Given the description of an element on the screen output the (x, y) to click on. 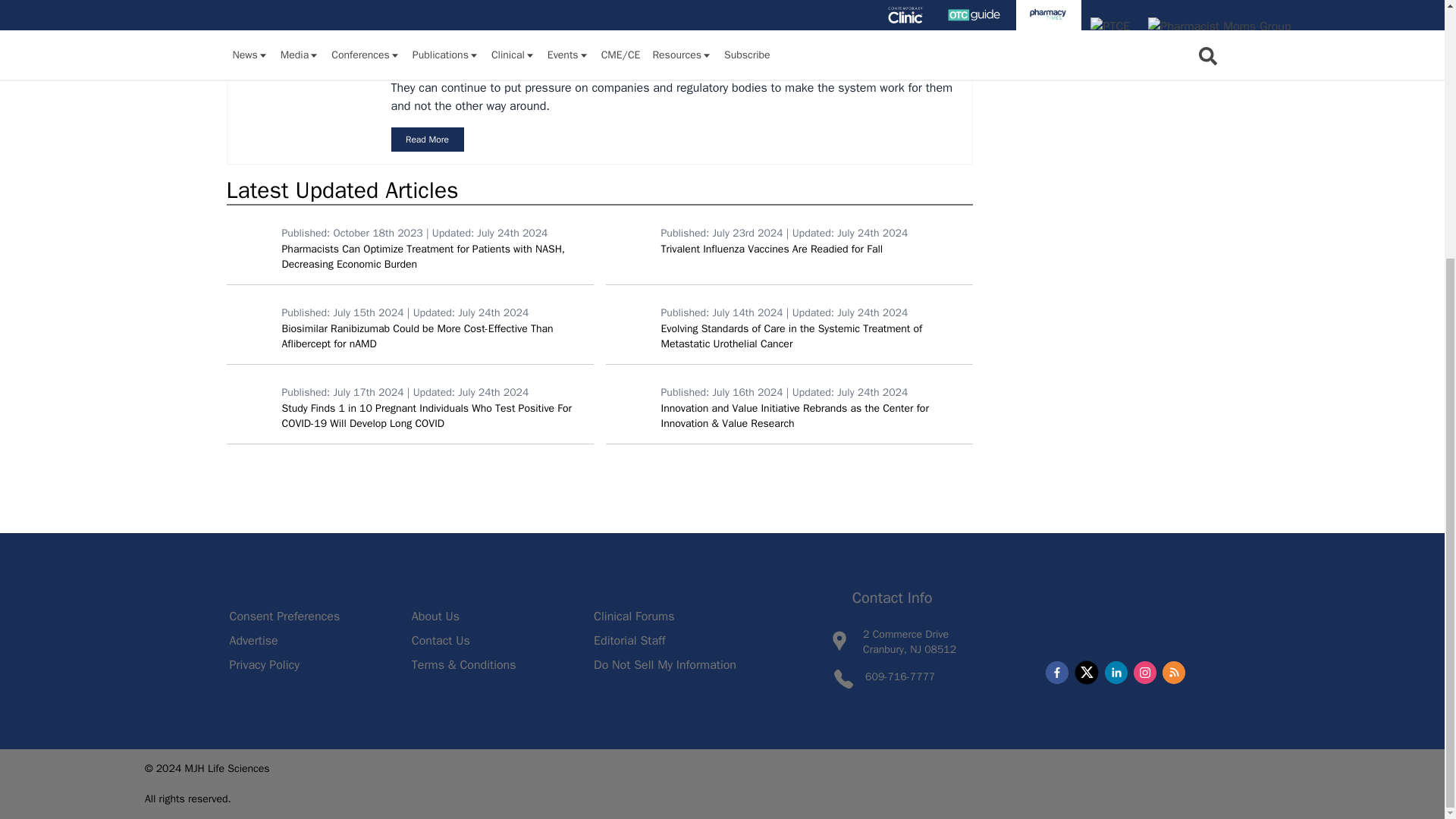
Systemic Treatment of Metastatic Urothelial Cancer (629, 319)
Small vial of influenza vaccine. (629, 239)
